Given the description of an element on the screen output the (x, y) to click on. 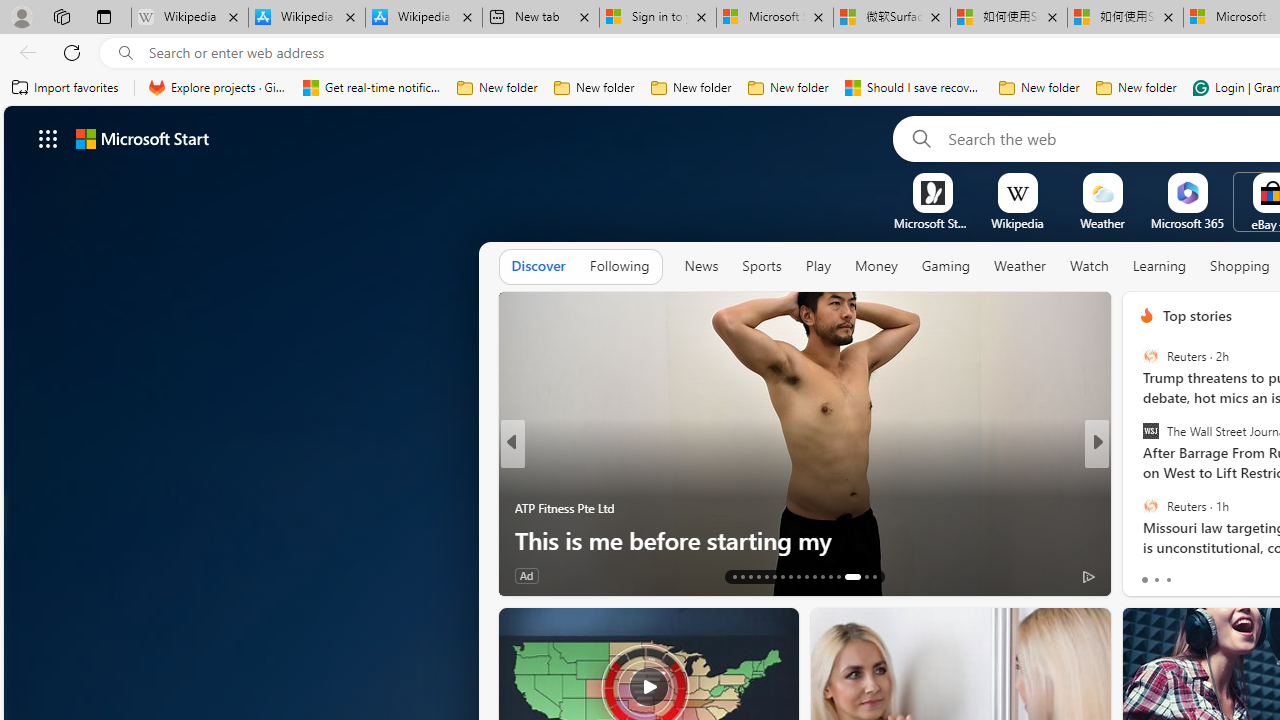
Import favorites (65, 88)
AutomationID: tab-21 (797, 576)
Top stories (1196, 315)
AutomationID: tab-25 (829, 576)
The Wall Street Journal (1149, 431)
Microsoft start (142, 138)
MUO (522, 507)
AutomationID: tab-17 (765, 576)
